Given the description of an element on the screen output the (x, y) to click on. 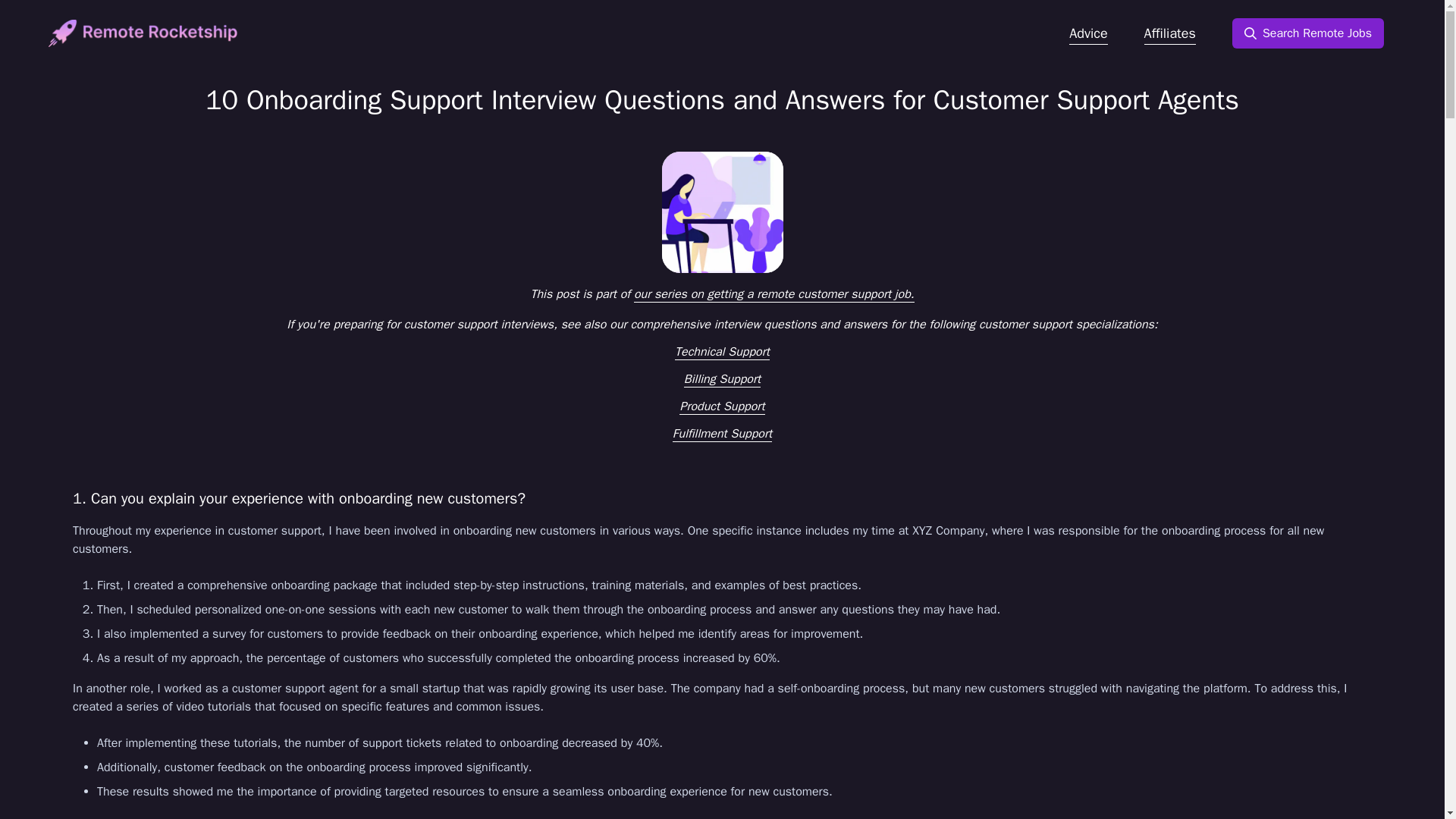
Fulfillment Support (721, 433)
Advice (1087, 33)
Technical Support (722, 351)
our series on getting a remote customer support job. (773, 294)
Affiliates (1169, 33)
Billing Support (722, 379)
Search Remote Jobs (1307, 33)
Product Support (721, 406)
